Given the description of an element on the screen output the (x, y) to click on. 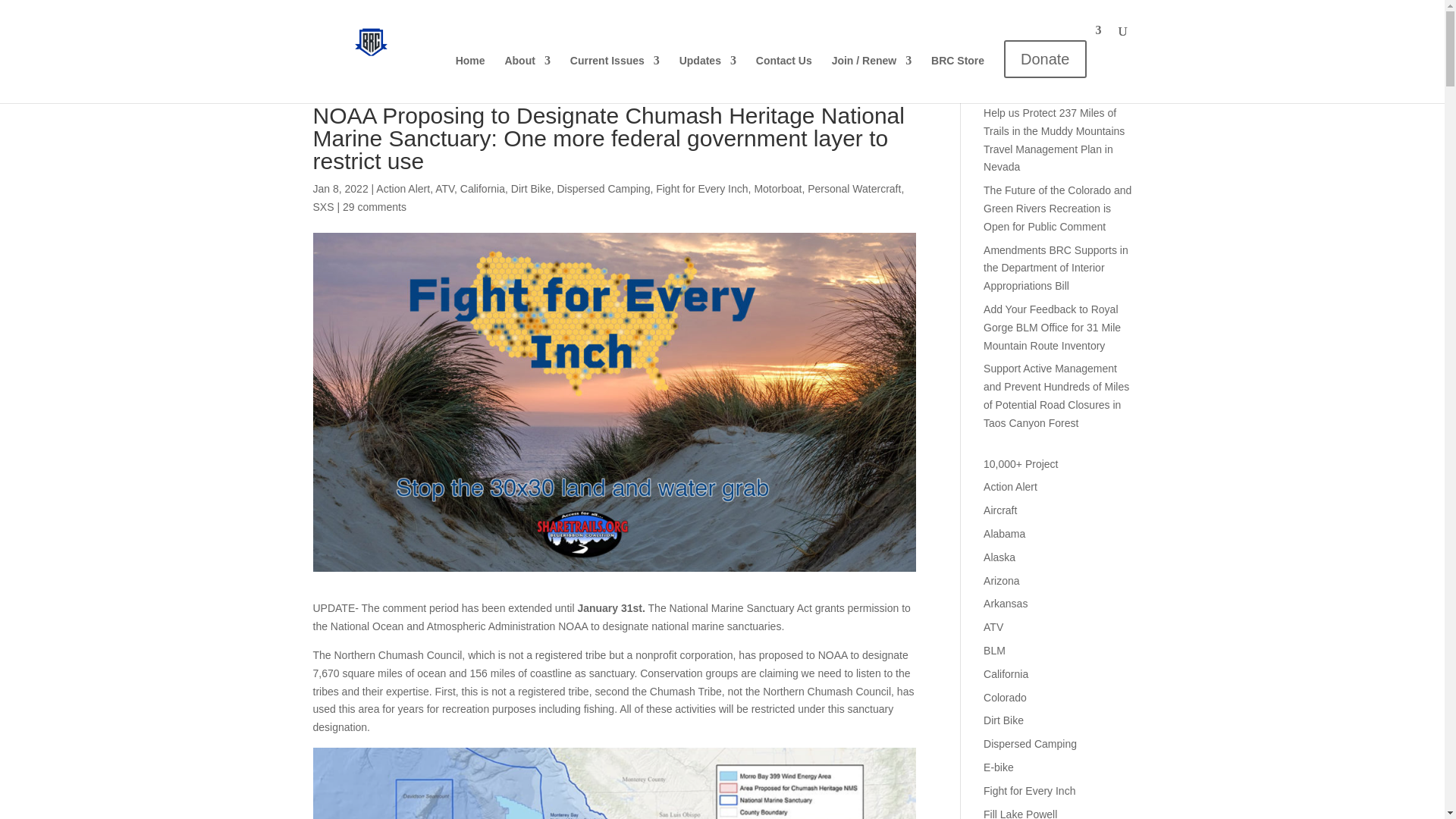
Action Alert (402, 188)
Dirt Bike (531, 188)
Fight for Every Inch (702, 188)
About (526, 72)
Personal Watercraft (854, 188)
Motorboat (778, 188)
Dispersed Camping (602, 188)
California (482, 188)
Donate (1053, 64)
BRC Store (957, 72)
Contact Us (783, 72)
ATV (444, 188)
Current Issues (614, 72)
Updates (707, 72)
